Given the description of an element on the screen output the (x, y) to click on. 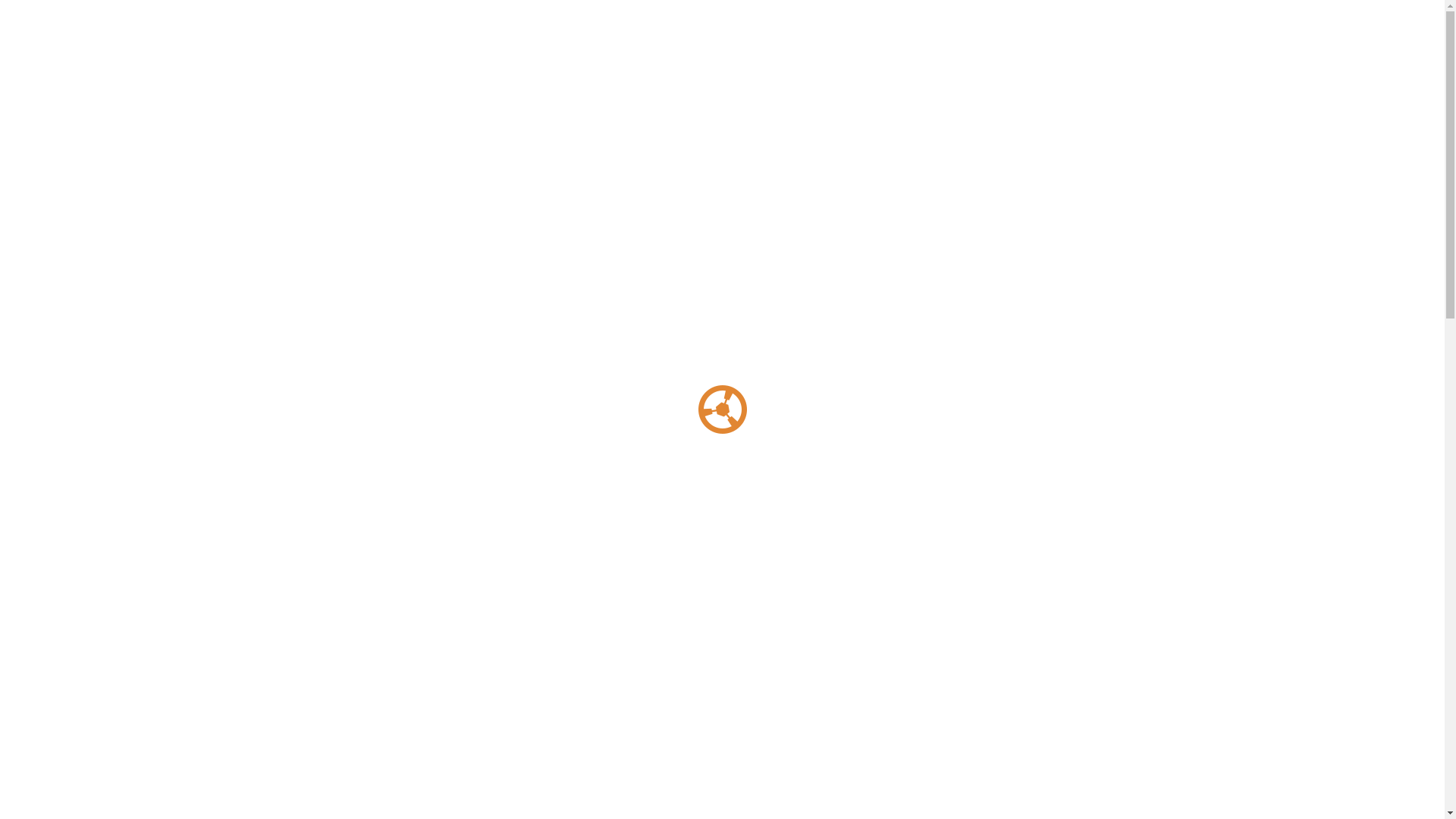
HOME Element type: text (671, 67)
SUCHEN Element type: text (1092, 765)
INSERIEREN Element type: text (740, 67)
APP / LINKS Element type: text (967, 67)
Stichwort Element type: hover (441, 691)
KONTAKT Element type: text (1118, 67)
AUSGABEN BUSJAHRBUCH Element type: text (854, 67)
PLZ/Ort Element type: hover (1002, 691)
Busjahrbuch.ch - Suche Element type: hover (315, 612)
